Given the description of an element on the screen output the (x, y) to click on. 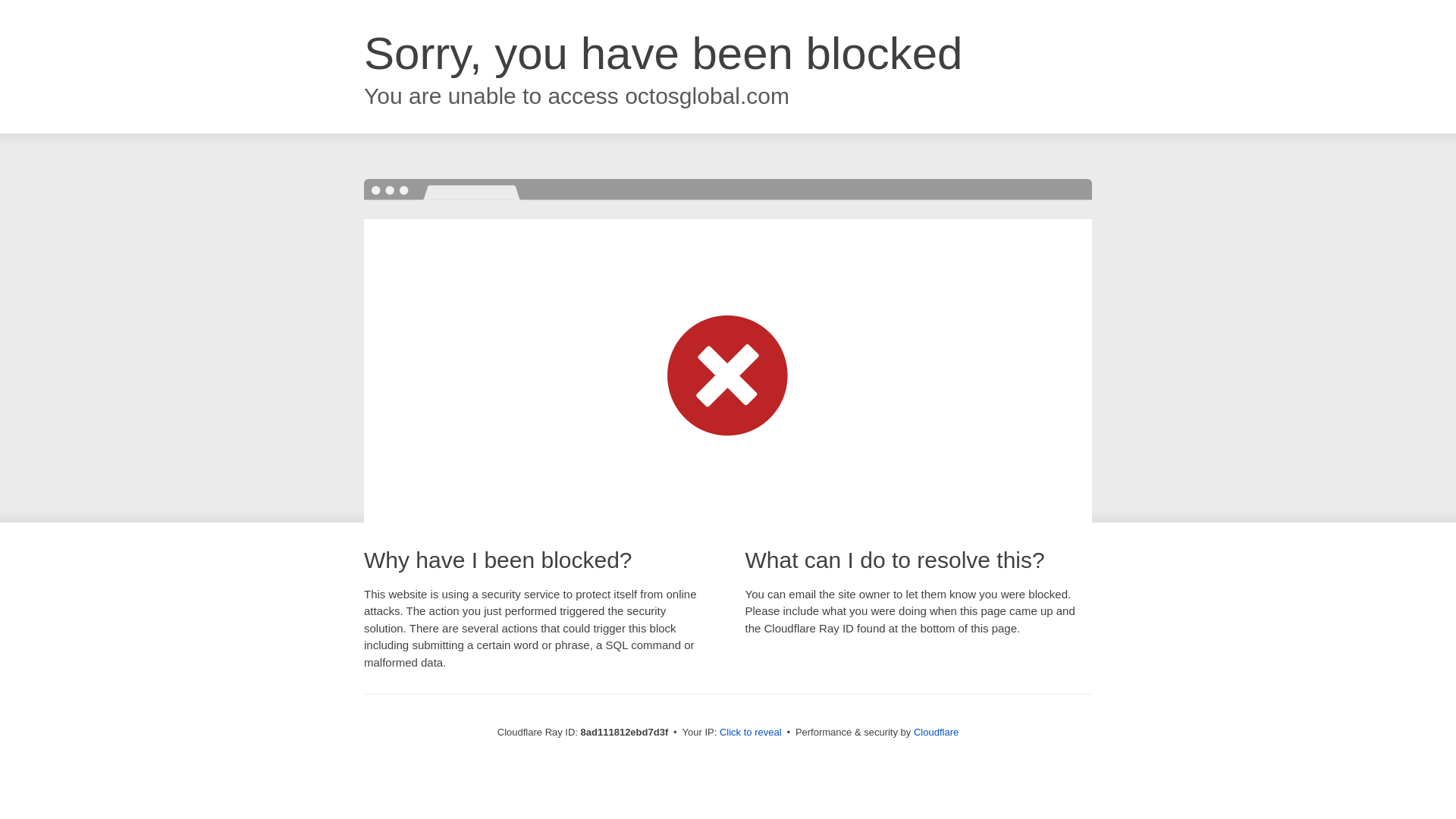
Cloudflare (936, 731)
Click to reveal (750, 732)
